Given the description of an element on the screen output the (x, y) to click on. 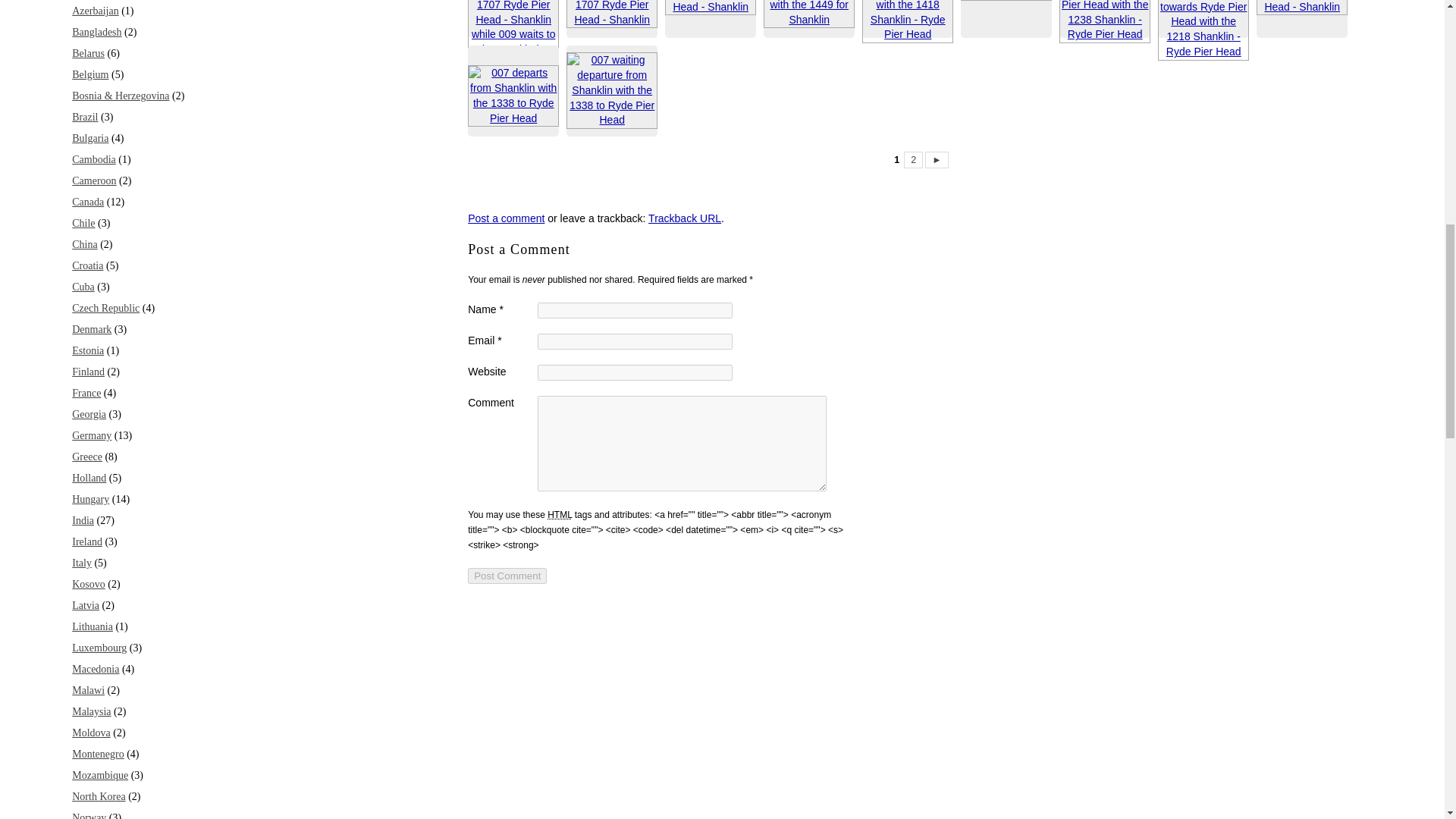
Post a comment (505, 218)
Trackback URL (683, 218)
2 (913, 159)
Post Comment (507, 575)
Post Comment (507, 575)
